Given the description of an element on the screen output the (x, y) to click on. 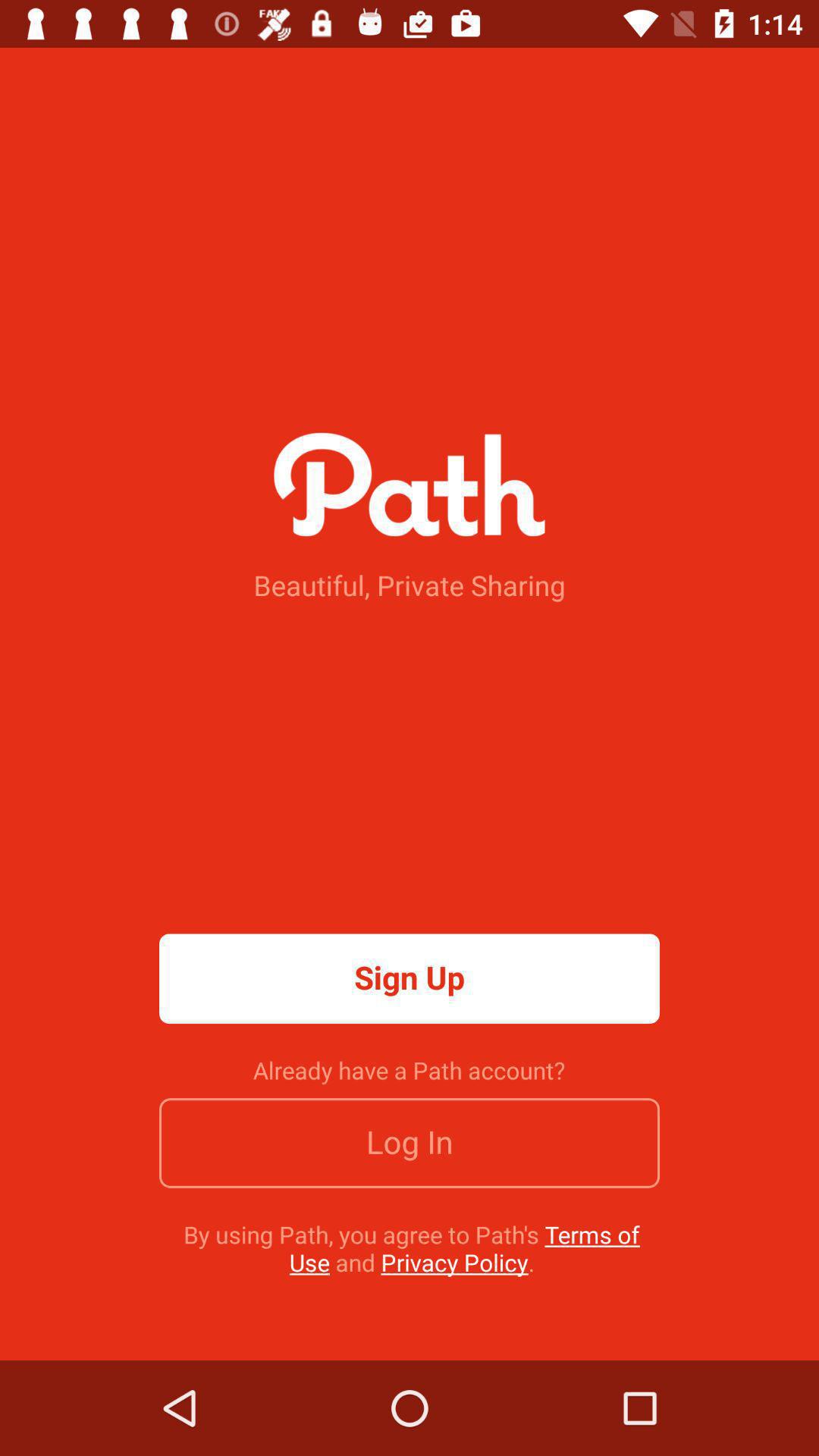
turn on the app below beautiful, private sharing icon (409, 978)
